Given the description of an element on the screen output the (x, y) to click on. 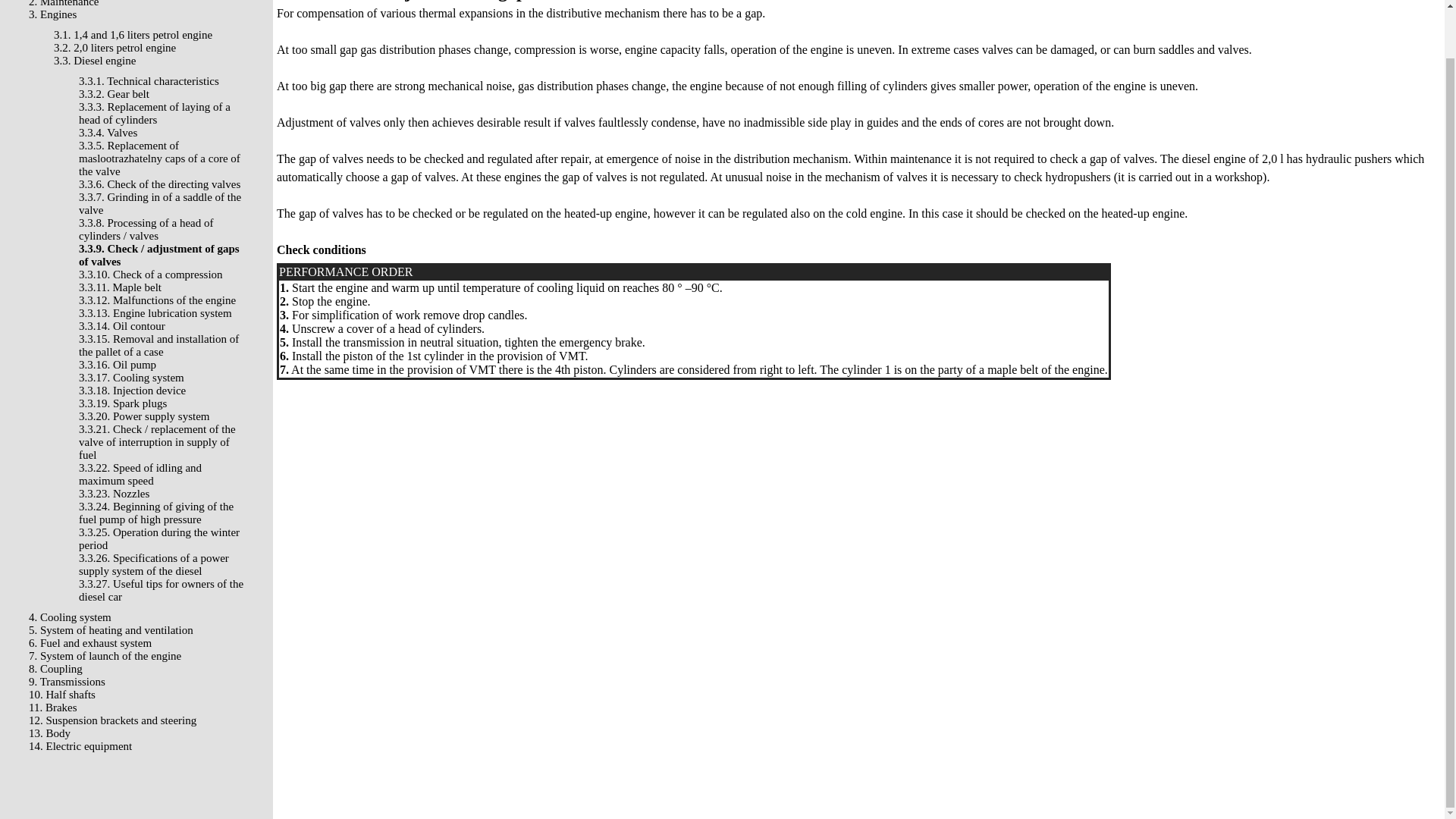
3.3.17. Cooling system (131, 377)
3.1. 1,4 and 1,6 liters petrol engine (132, 34)
11. Brakes (53, 707)
2. Maintenance (64, 3)
3.3.19. Spark plugs (122, 403)
3.3.27. Useful tips for owners of the diesel car (160, 590)
3.3.25. Operation during the winter period (159, 538)
3.3.23. Nozzles (113, 493)
3.3.11. Maple belt (119, 287)
3.3.7. Grinding in of a saddle of the valve (159, 203)
3.3.10. Check of a compression (150, 274)
9. Transmissions (66, 681)
3.2. 2,0 liters petrol engine (114, 47)
